Given the description of an element on the screen output the (x, y) to click on. 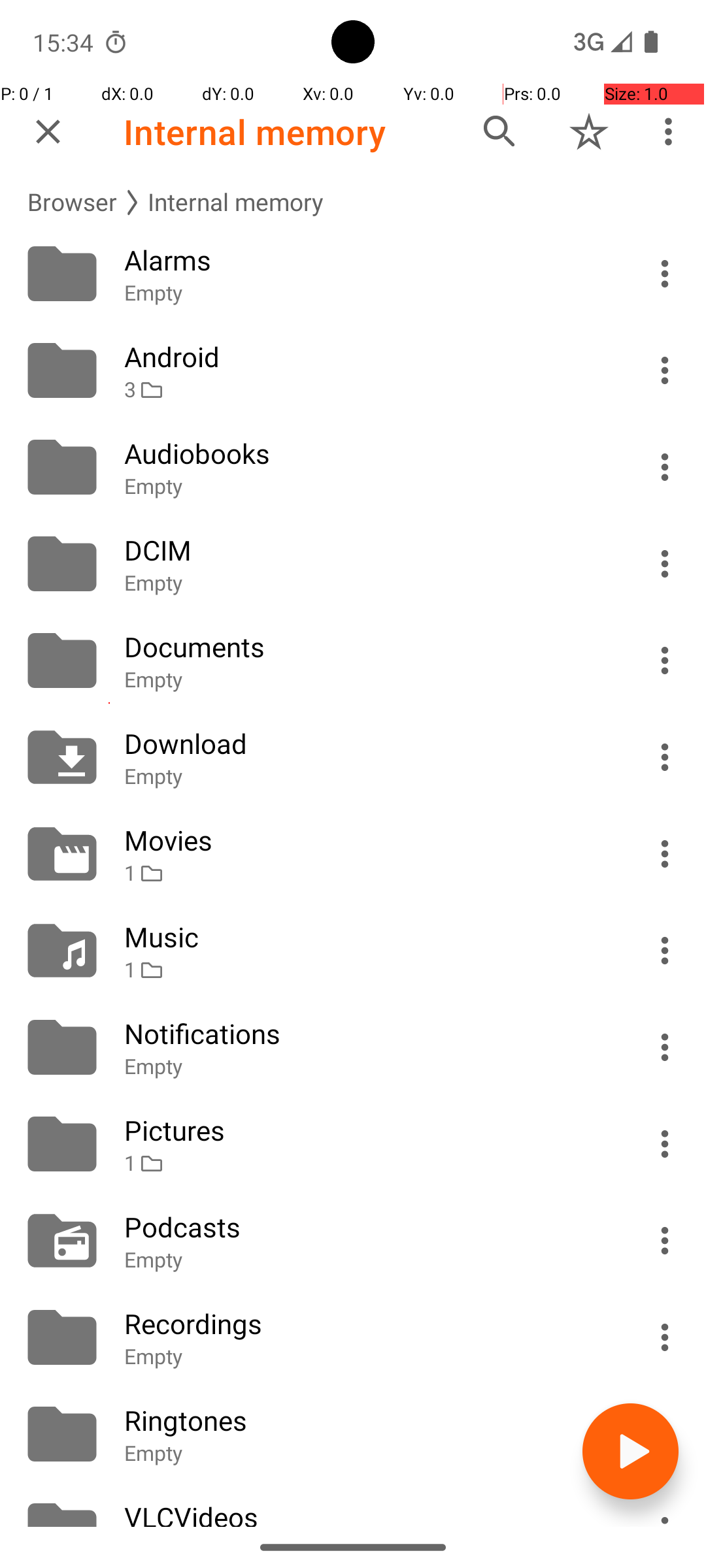
Folder: Alarms, Empty Element type: android.view.ViewGroup (353, 273)
Folder: Android, 3 subfolders Element type: android.view.ViewGroup (353, 370)
Folder: Audiobooks, Empty Element type: android.view.ViewGroup (353, 466)
Folder: DCIM, Empty Element type: android.view.ViewGroup (353, 563)
Folder: Documents, Empty Element type: android.view.ViewGroup (353, 660)
Folder: Download, Empty Element type: android.view.ViewGroup (353, 756)
Folder: Movies, 1 subfolder Element type: android.view.ViewGroup (353, 853)
Folder: Music, 1 subfolder Element type: android.view.ViewGroup (353, 950)
Folder: Notifications, Empty Element type: android.view.ViewGroup (353, 1046)
Folder: Pictures, 1 subfolder Element type: android.view.ViewGroup (353, 1143)
Folder: Podcasts, Empty Element type: android.view.ViewGroup (353, 1240)
Folder: Recordings, Empty Element type: android.view.ViewGroup (353, 1337)
Folder: Ringtones, Empty Element type: android.view.ViewGroup (353, 1433)
Folder: VLCVideos, 10 media files Element type: android.view.ViewGroup (353, 1504)
Android Element type: android.widget.TextView (366, 356)
3 §*§ Element type: android.widget.TextView (366, 389)
Audiobooks Element type: android.widget.TextView (366, 452)
Recordings Element type: android.widget.TextView (366, 1322)
Ringtones Element type: android.widget.TextView (366, 1419)
